Given the description of an element on the screen output the (x, y) to click on. 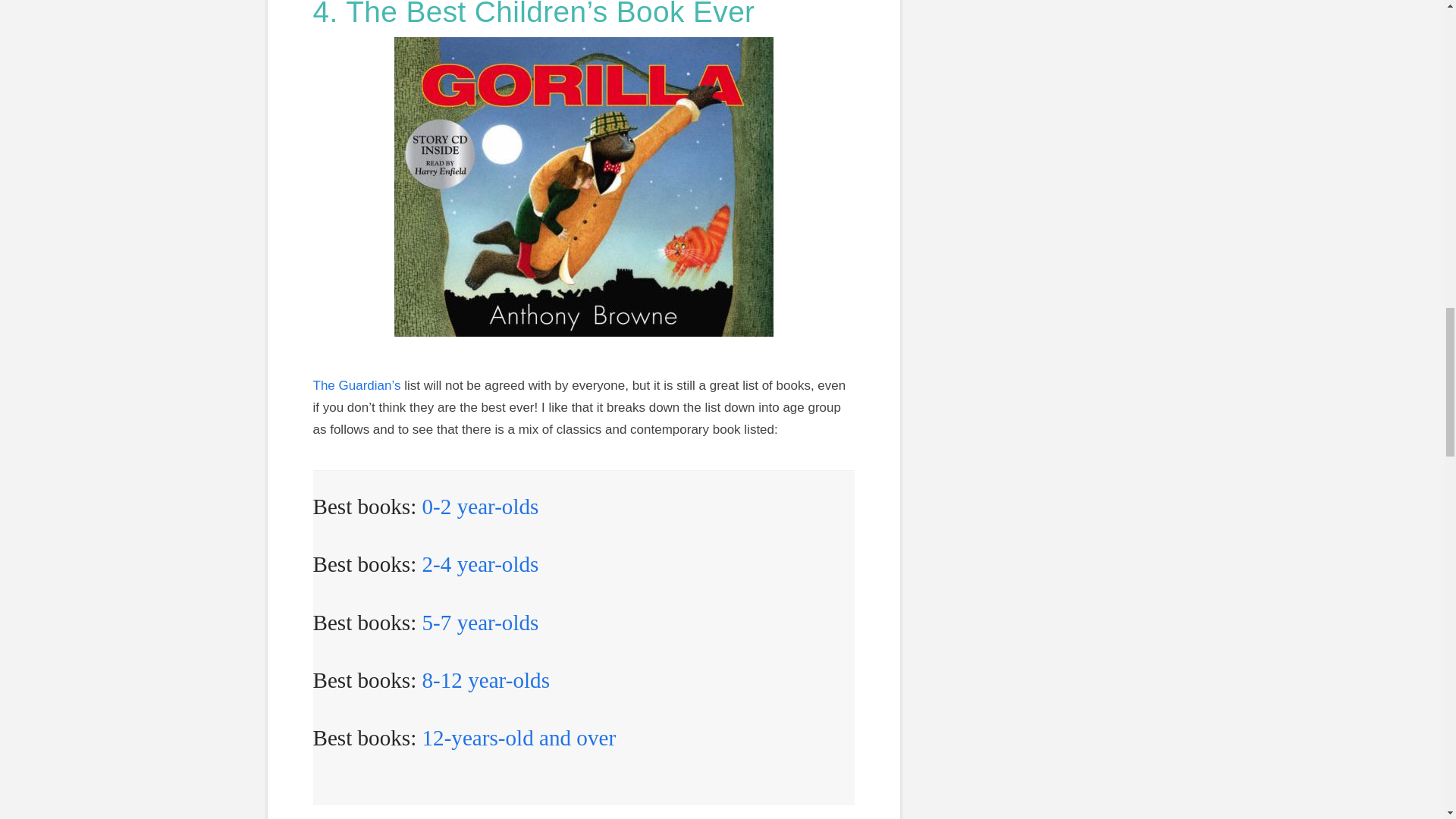
5-7 year-olds (480, 622)
12-years-old and over (518, 737)
0-2 year-olds (480, 506)
2-4 year-olds (477, 564)
8-12 year-olds (486, 680)
gorilla by anthony browne (583, 186)
